Given the description of an element on the screen output the (x, y) to click on. 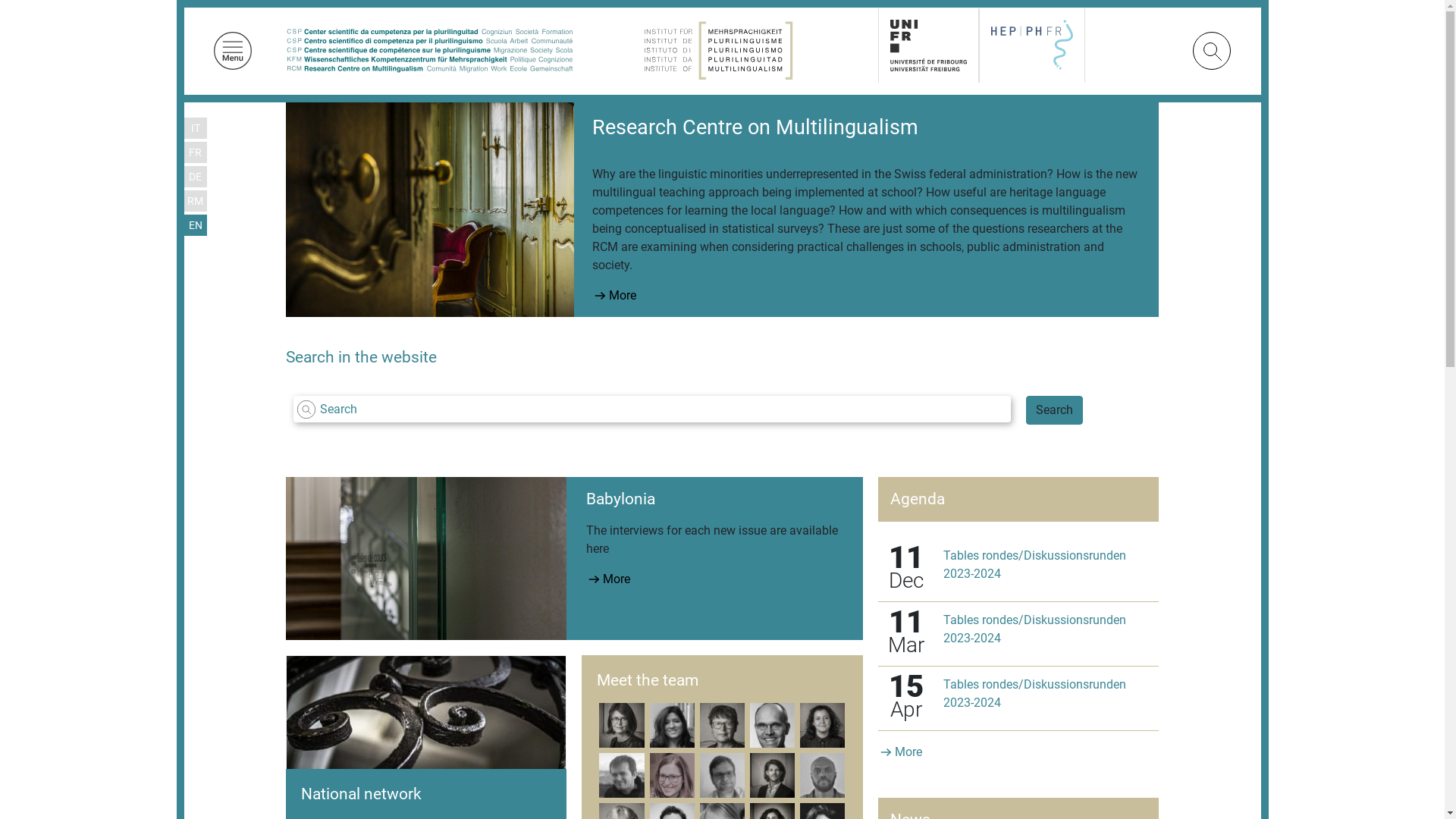
4 Element type: text (849, 620)
More Element type: text (908, 751)
Tables rondes/Diskussionsrunden 2023-2024 Element type: text (1034, 693)
1 Element type: text (795, 620)
Search Element type: text (1054, 409)
2 Element type: text (813, 620)
logo_unifr Element type: hover (928, 45)
IT Element type: text (195, 128)
Skip to main content Element type: text (175, 0)
More Element type: text (605, 295)
Tables rondes/Diskussionsrunden 2023-2024 Element type: text (1034, 628)
FR Element type: text (195, 152)
More Element type: text (616, 599)
EN Element type: text (194, 225)
IDP Element type: hover (717, 49)
logo_hep Element type: hover (1032, 44)
Tables rondes/Diskussionsrunden 2023-2024 Element type: text (1034, 564)
KFM Element type: hover (429, 49)
RM Element type: text (194, 201)
DE Element type: text (195, 177)
3 Element type: text (831, 620)
